Given the description of an element on the screen output the (x, y) to click on. 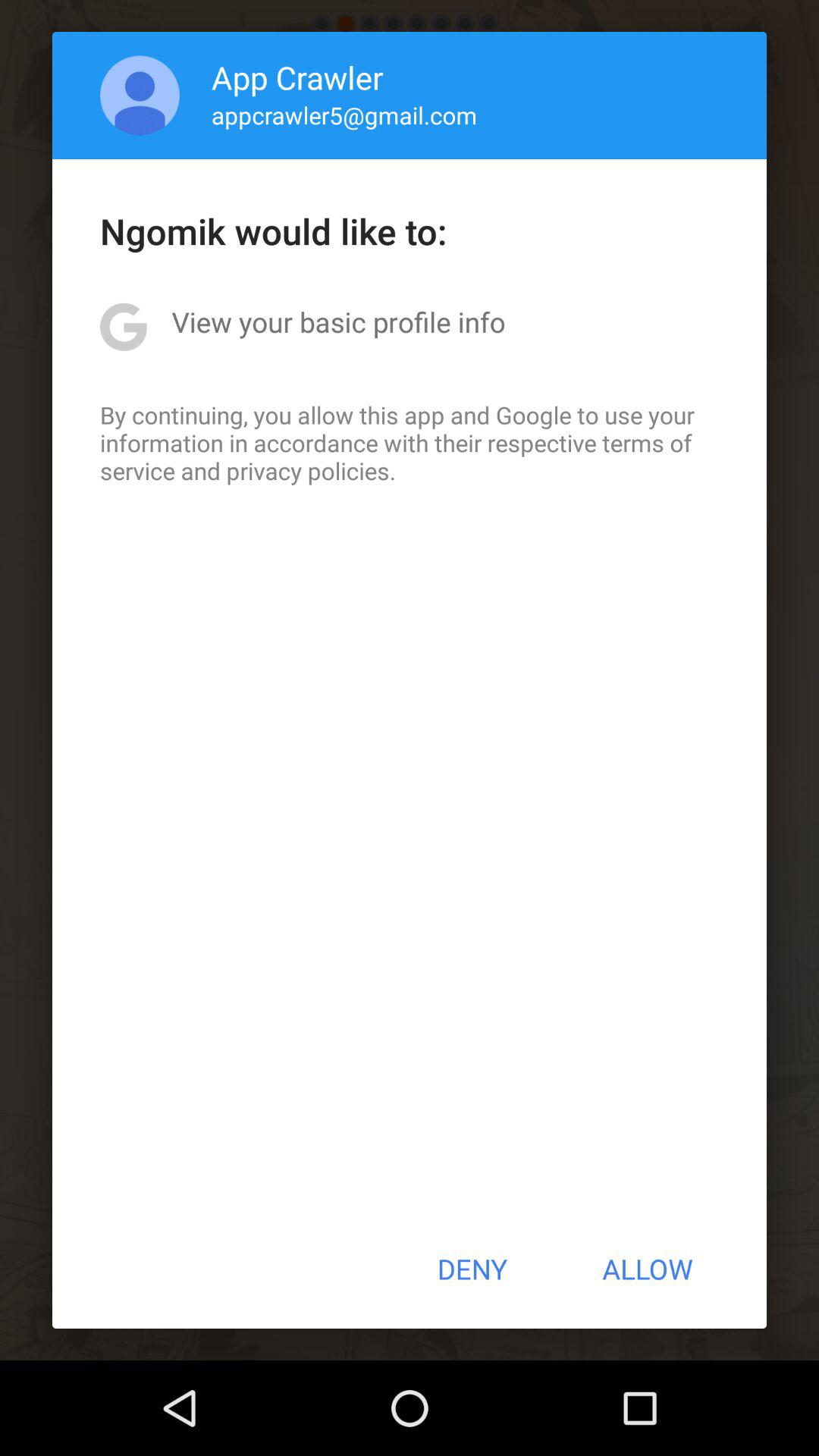
press the icon to the left of the allow icon (471, 1268)
